Given the description of an element on the screen output the (x, y) to click on. 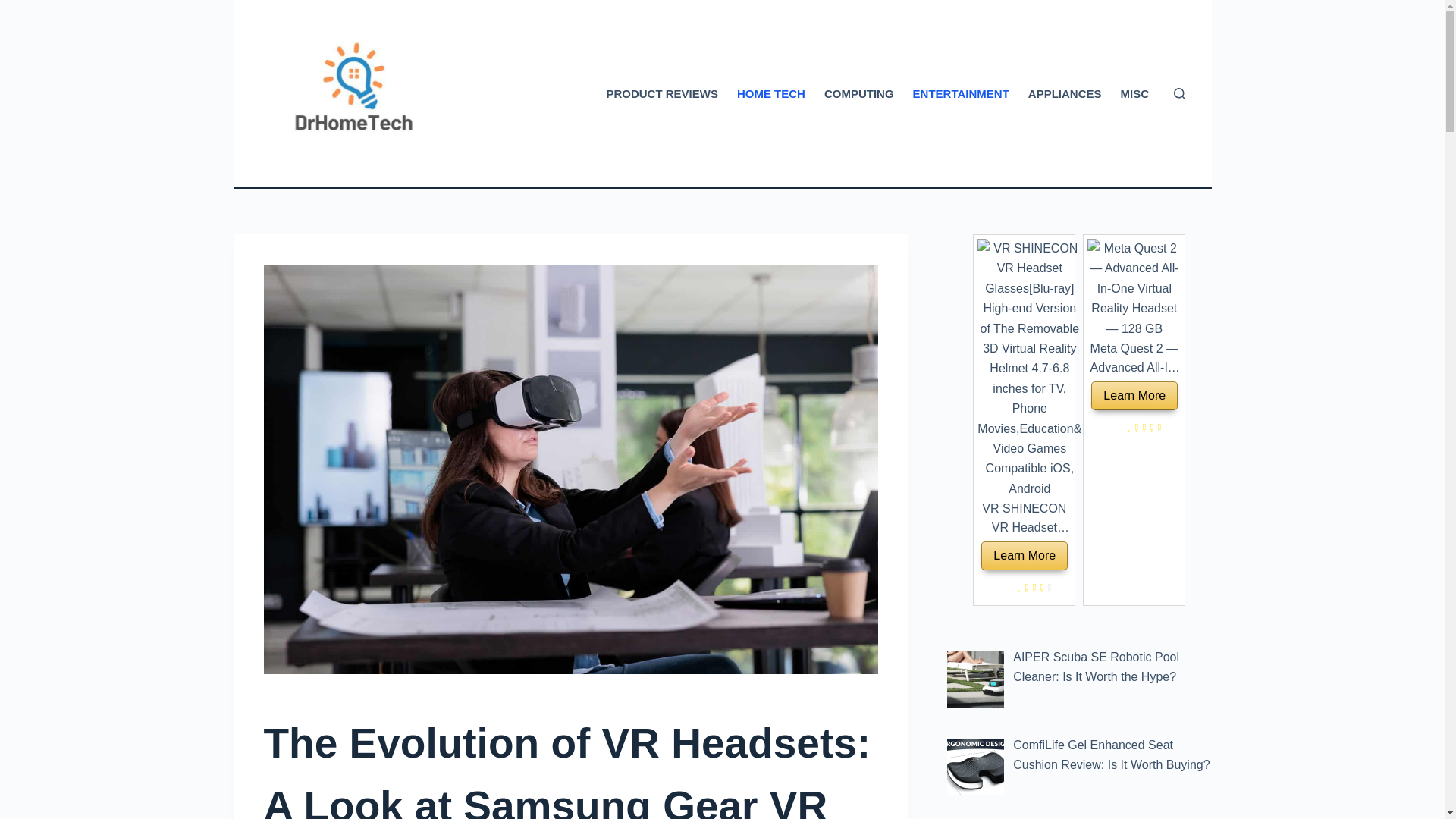
Skip to content (15, 7)
APPLIANCES (1063, 93)
MISC (1134, 93)
COMPUTING (857, 93)
The Evolution of VR Headsets: A Look at Samsung Gear VR (570, 765)
ENTERTAINMENT (959, 93)
AIPER Scuba SE Robotic Pool Cleaner: Is It Worth the Hype? (1096, 666)
PRODUCT REVIEWS (662, 93)
HOME TECH (769, 93)
